Given the description of an element on the screen output the (x, y) to click on. 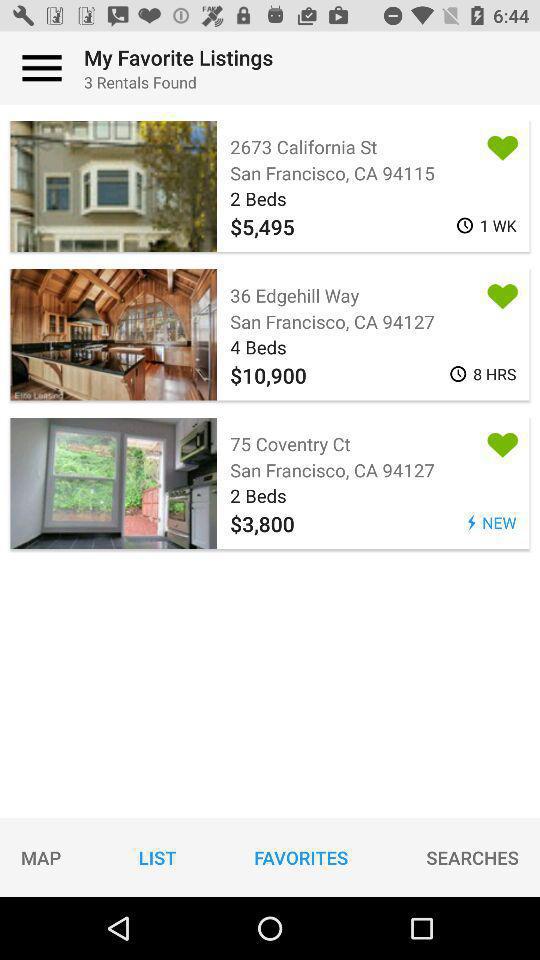
select item below $3,800 item (472, 857)
